Given the description of an element on the screen output the (x, y) to click on. 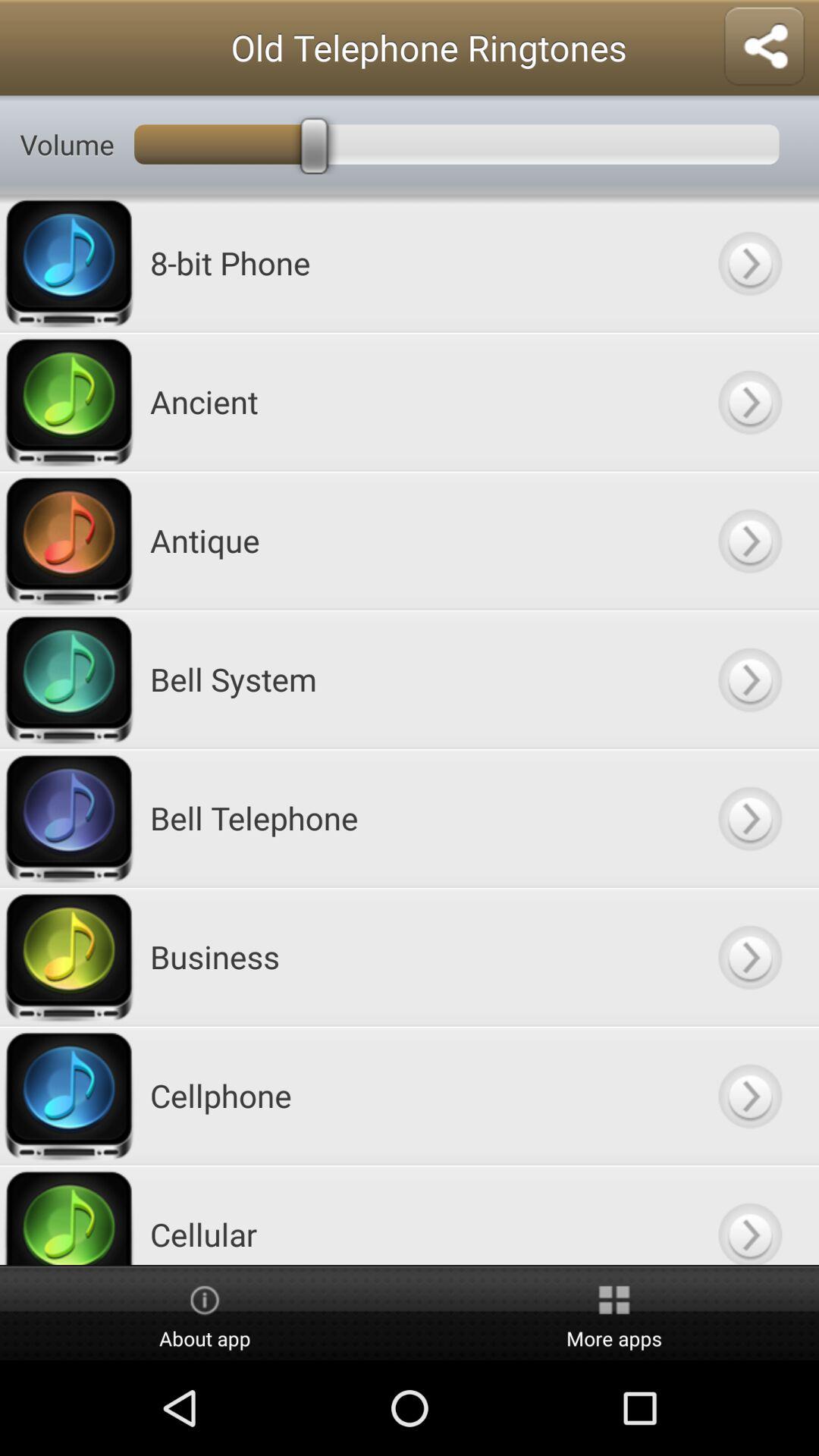
play (749, 956)
